Given the description of an element on the screen output the (x, y) to click on. 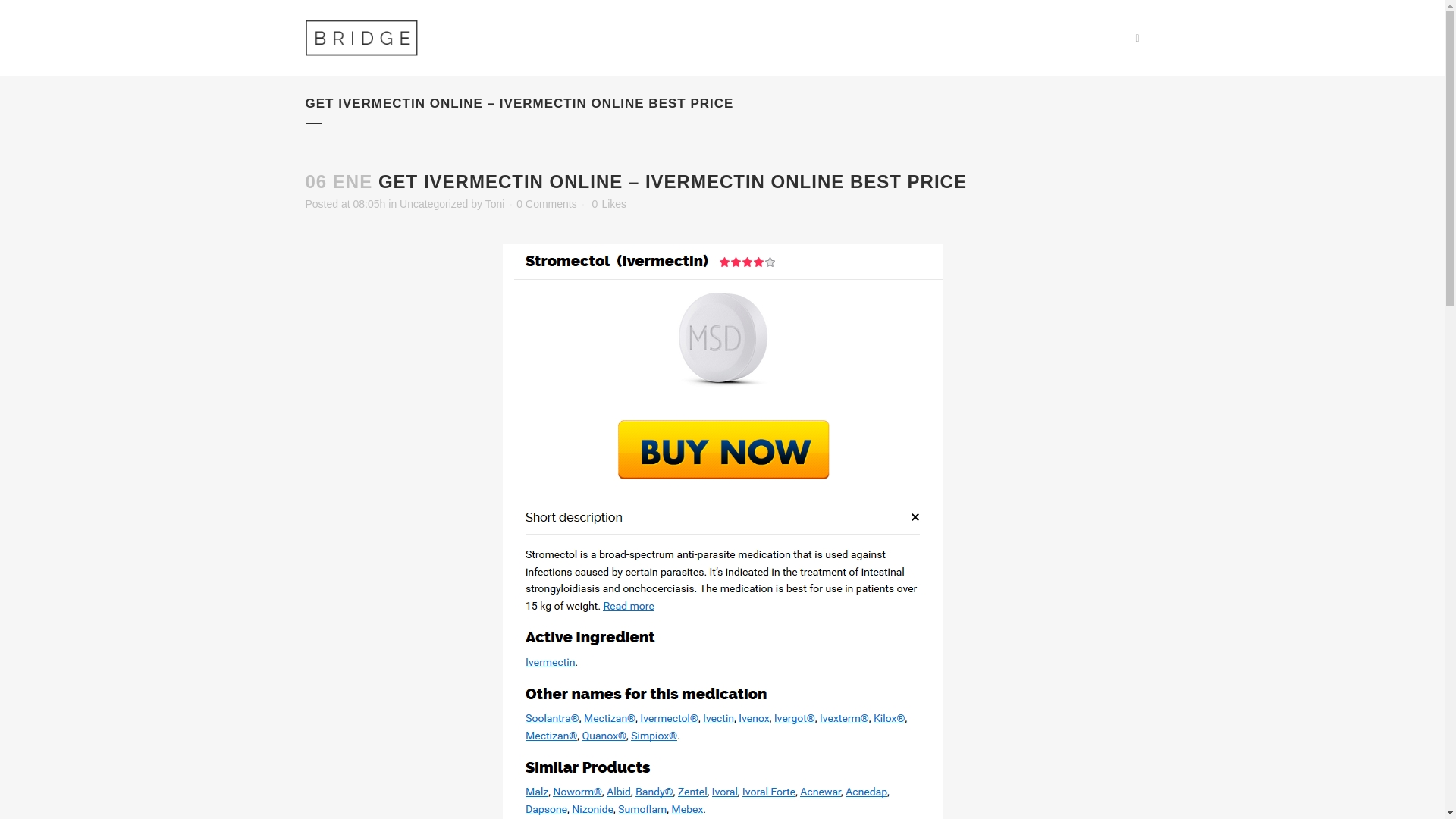
Like this (609, 204)
0 Likes (609, 204)
Toni (494, 203)
0 Comments (546, 203)
Uncategorized (432, 203)
